Given the description of an element on the screen output the (x, y) to click on. 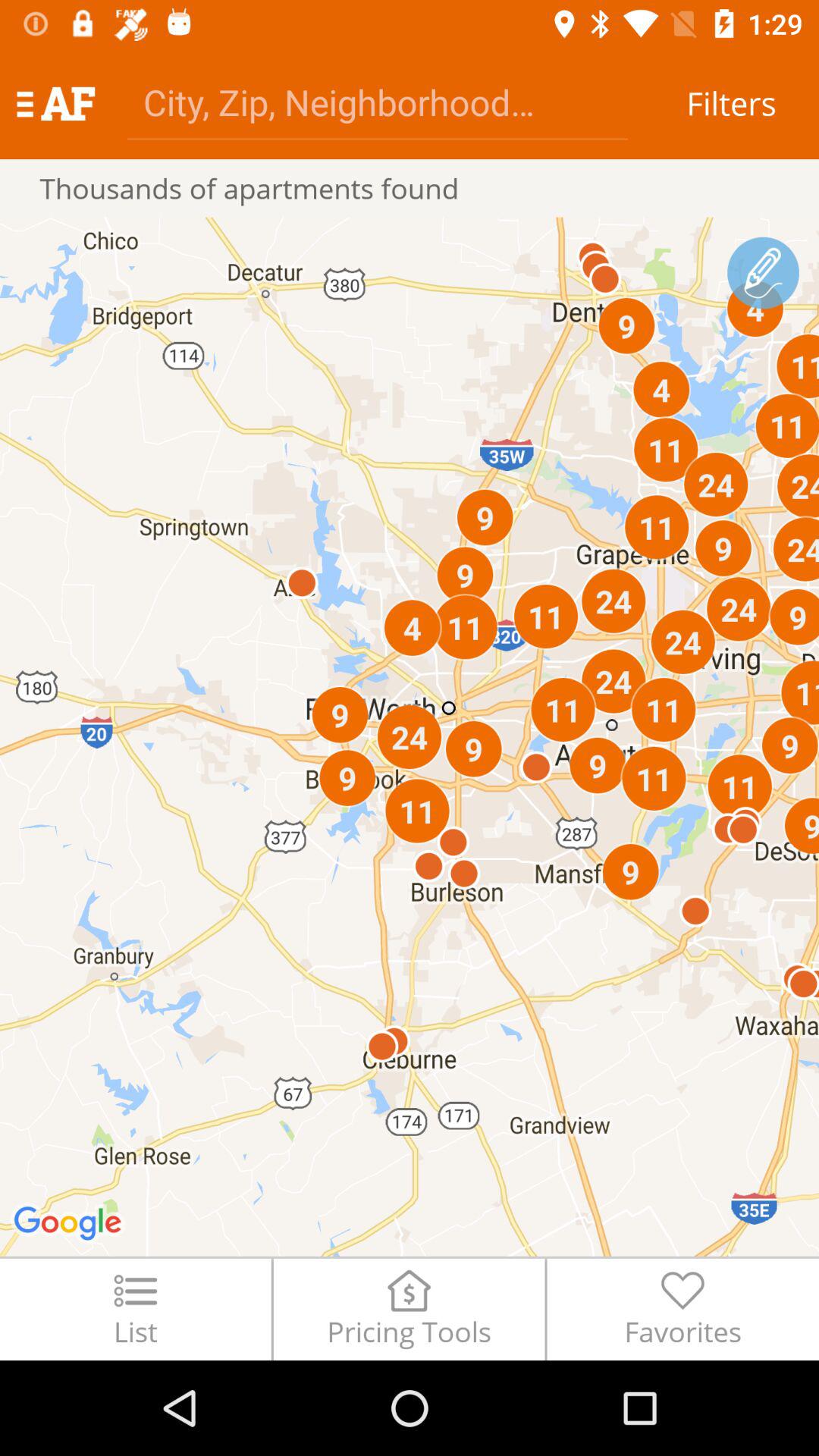
select item next to the list (408, 1309)
